Given the description of an element on the screen output the (x, y) to click on. 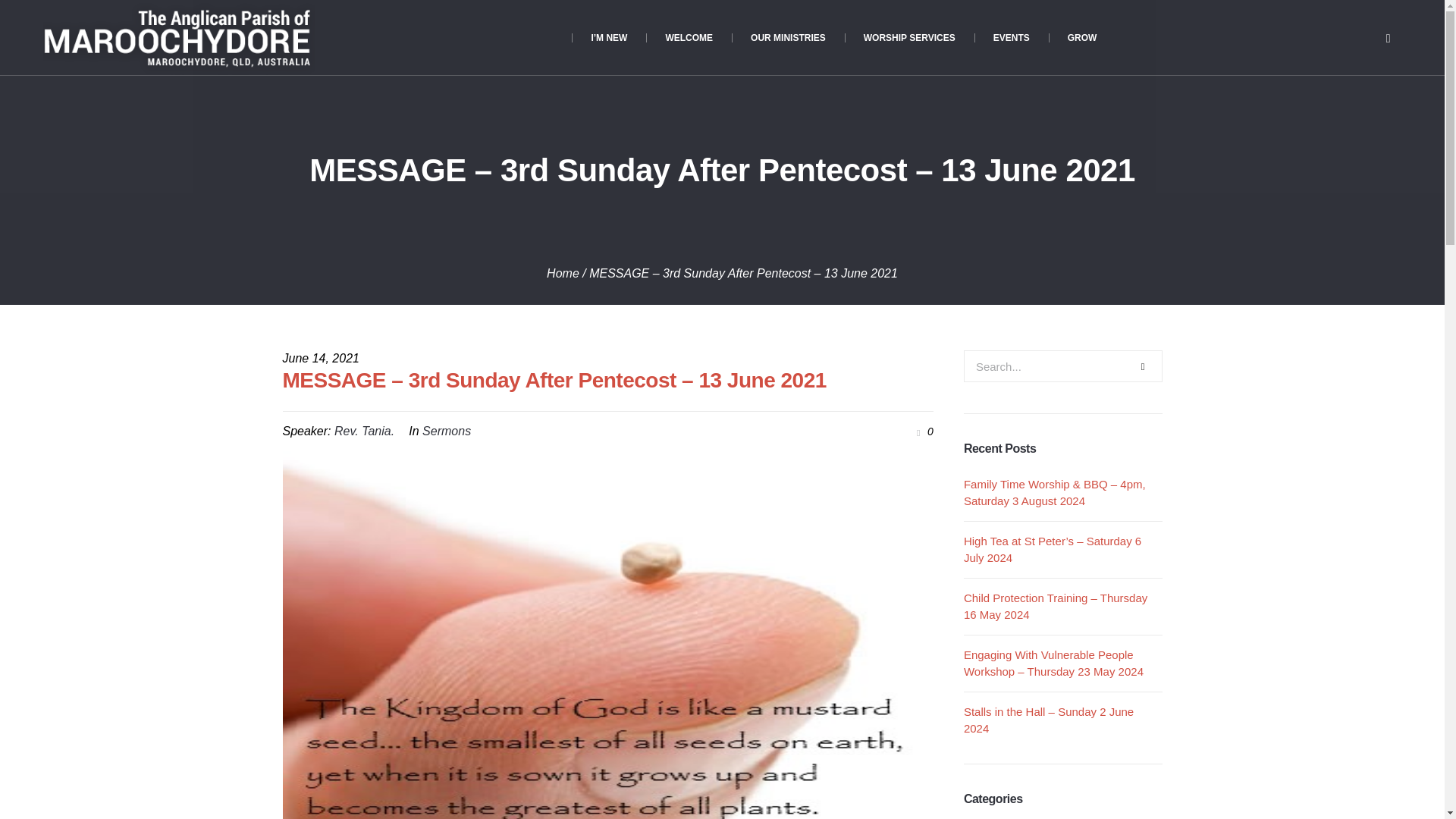
Speaker Rev. Tania. (364, 431)
Rev. Tania. (364, 431)
June 14, 2021 (320, 358)
EVENTS (1011, 37)
OUR MINISTRIES (788, 37)
0 (922, 431)
Home (563, 273)
WELCOME (689, 37)
Sermons (446, 431)
GROW (1082, 37)
WORSHIP SERVICES (909, 37)
